Given the description of an element on the screen output the (x, y) to click on. 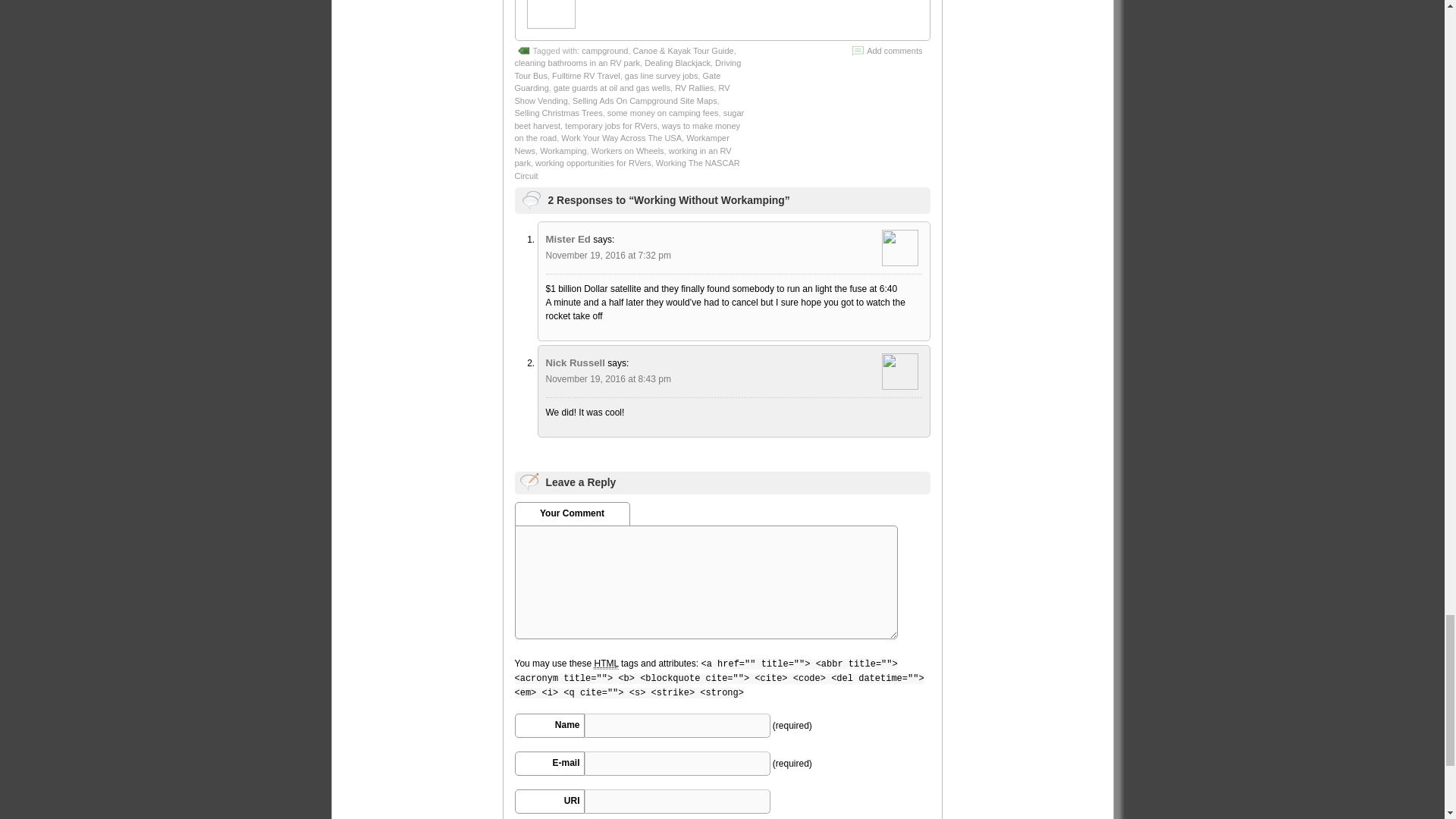
campground (603, 50)
Driving Tour Bus (627, 69)
Add comments (893, 50)
Dealing Blackjack (677, 62)
cleaning bathrooms in an RV park (576, 62)
HyperText Markup Language (605, 663)
